Given the description of an element on the screen output the (x, y) to click on. 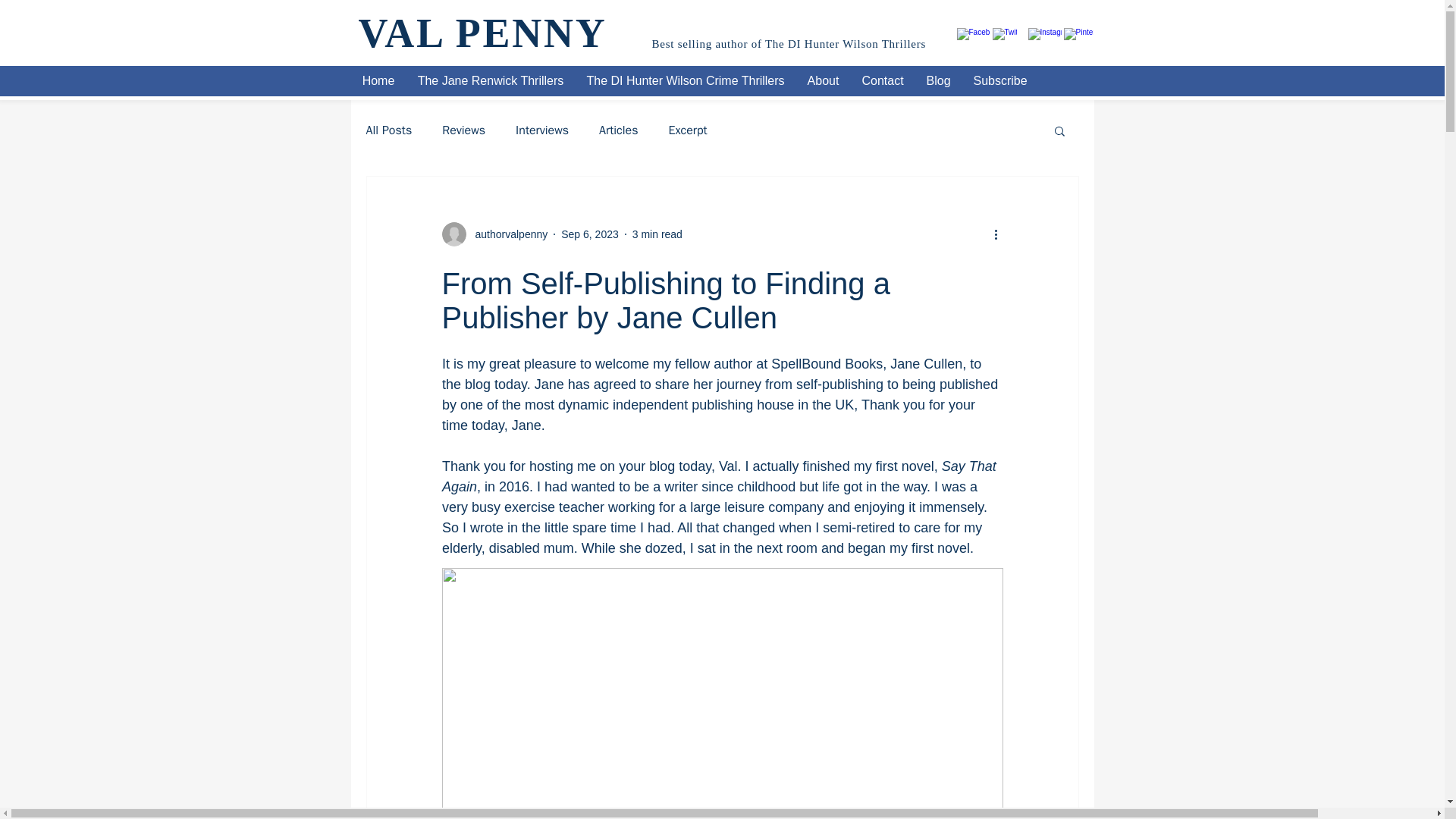
authorvalpenny (494, 233)
Subscribe (999, 80)
Home (378, 80)
Interviews (542, 130)
The DI Hunter Wilson Crime Thrillers (684, 80)
3 min read (656, 233)
About (823, 80)
Reviews (463, 130)
All Posts (388, 130)
Articles (617, 130)
authorvalpenny (506, 233)
Sep 6, 2023 (589, 233)
Blog (937, 80)
The Jane Renwick Thrillers (490, 80)
Excerpt (687, 130)
